Given the description of an element on the screen output the (x, y) to click on. 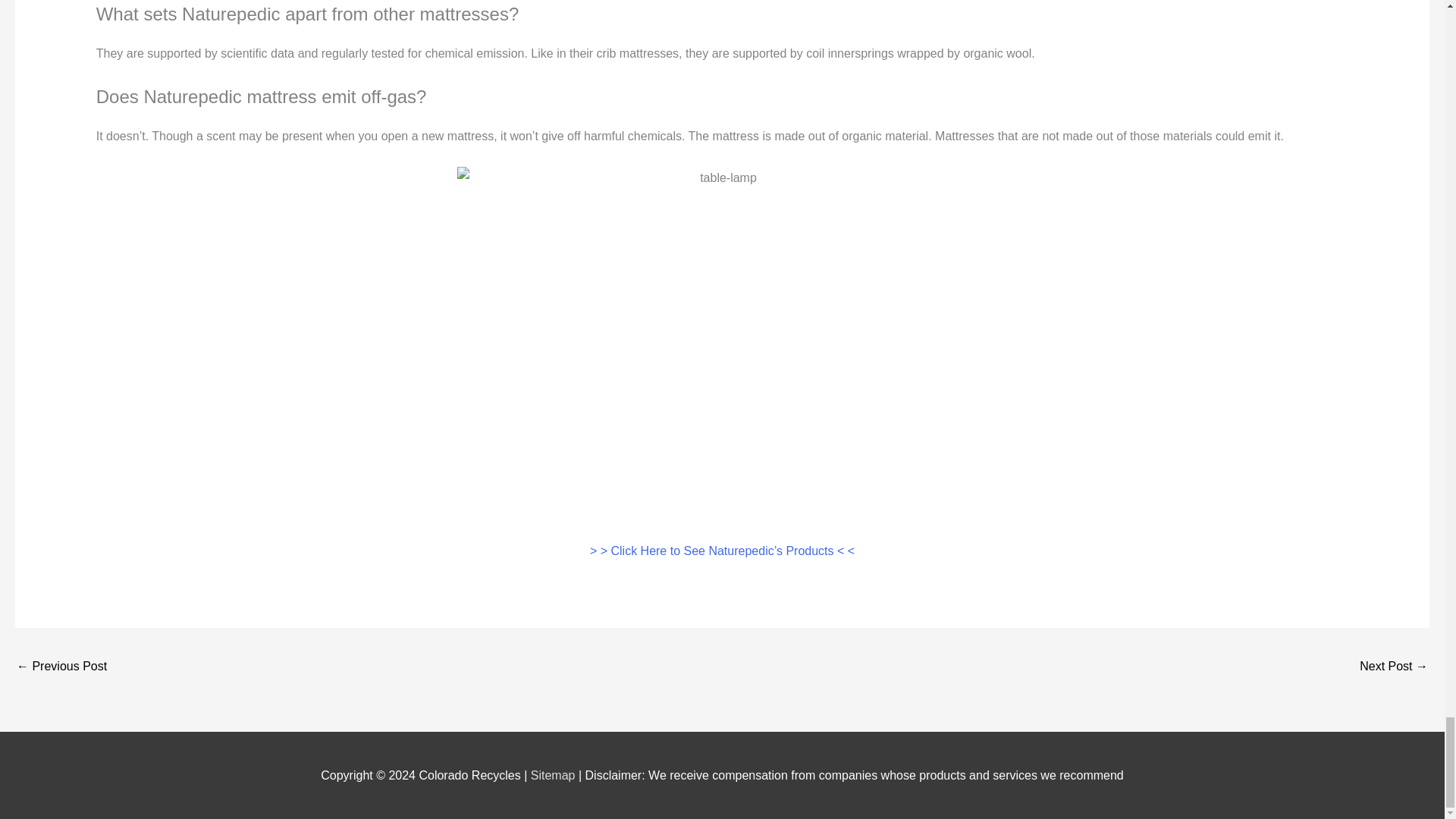
Sitemap (554, 775)
Pure Green Organic Cotton Mattress Topper Cover (1393, 667)
Organic Cotton Canvas Mattress Pad Tick (61, 667)
